Given the description of an element on the screen output the (x, y) to click on. 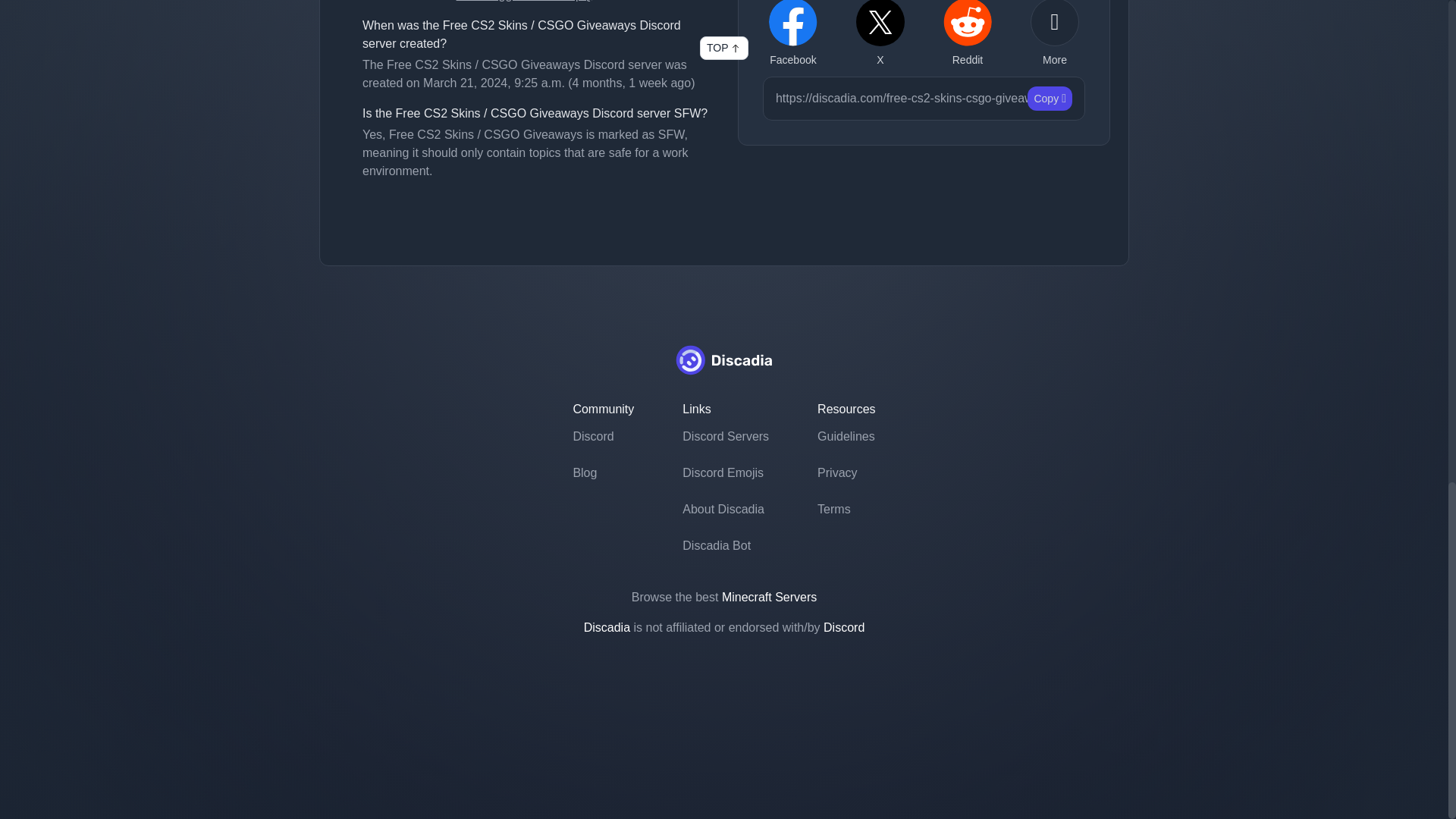
Blog (602, 473)
Discord Emojis (725, 473)
Discord (602, 436)
Guidelines (845, 436)
About Discadia (725, 509)
Discord Servers (725, 436)
Minecraft Servers (769, 596)
Privacy (845, 473)
Terms (845, 509)
Discadia Bot (725, 545)
